Given the description of an element on the screen output the (x, y) to click on. 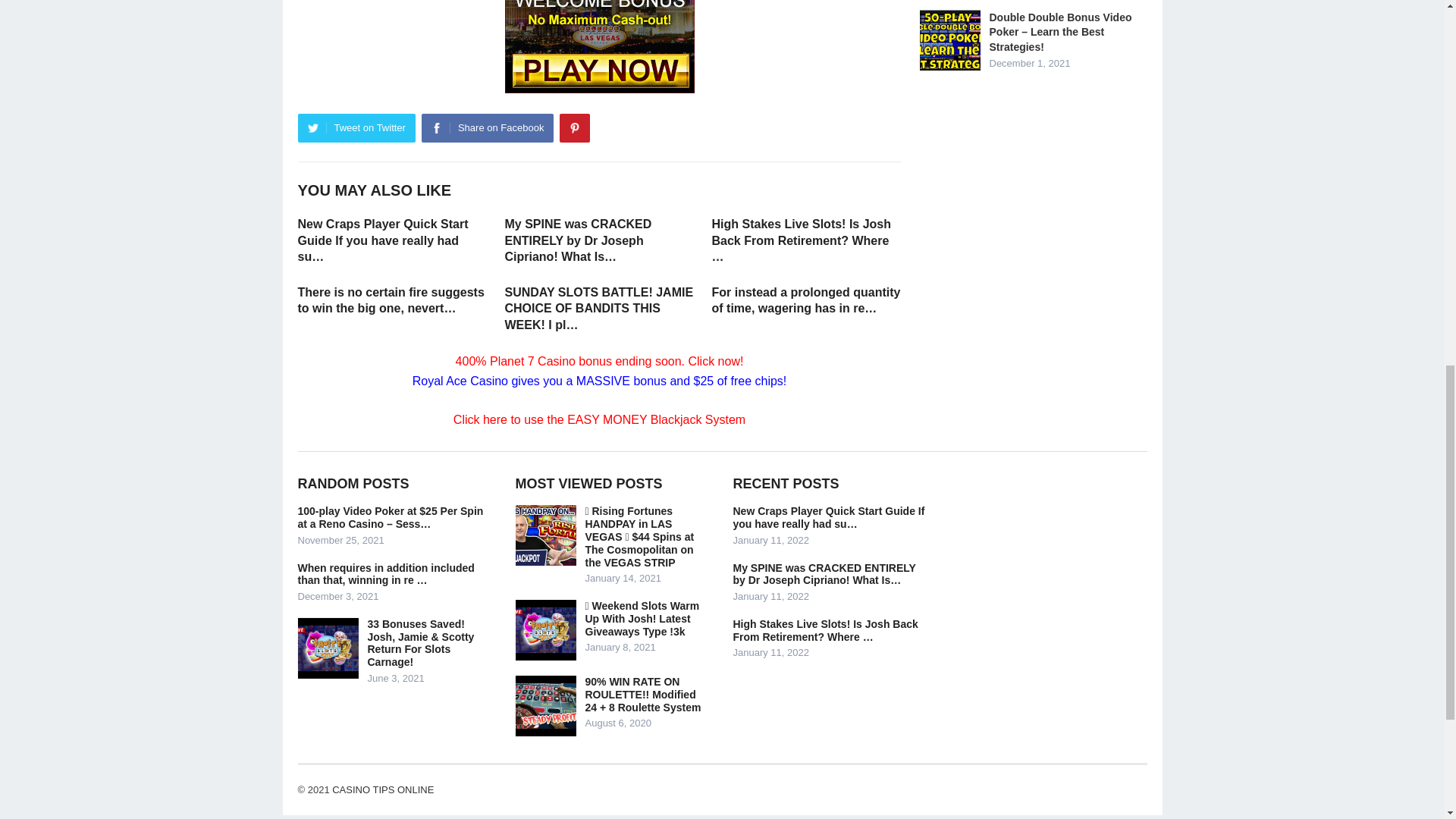
Share on Facebook (487, 127)
Pinterest (574, 127)
Click here to use the EASY MONEY Blackjack System (598, 419)
Tweet on Twitter (355, 127)
